Given the description of an element on the screen output the (x, y) to click on. 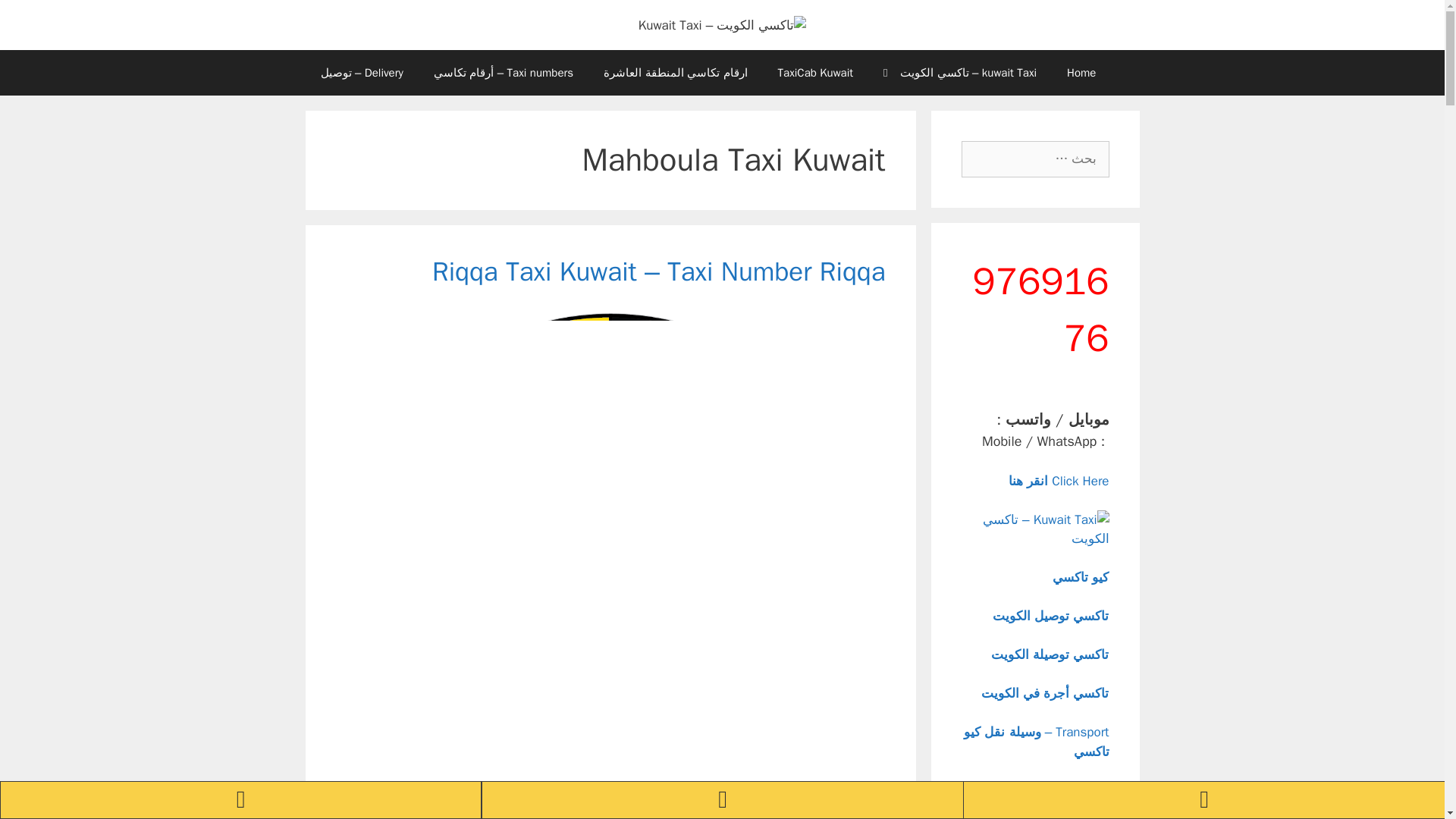
TaxiCab Kuwait (814, 72)
Home (1080, 72)
